Given the description of an element on the screen output the (x, y) to click on. 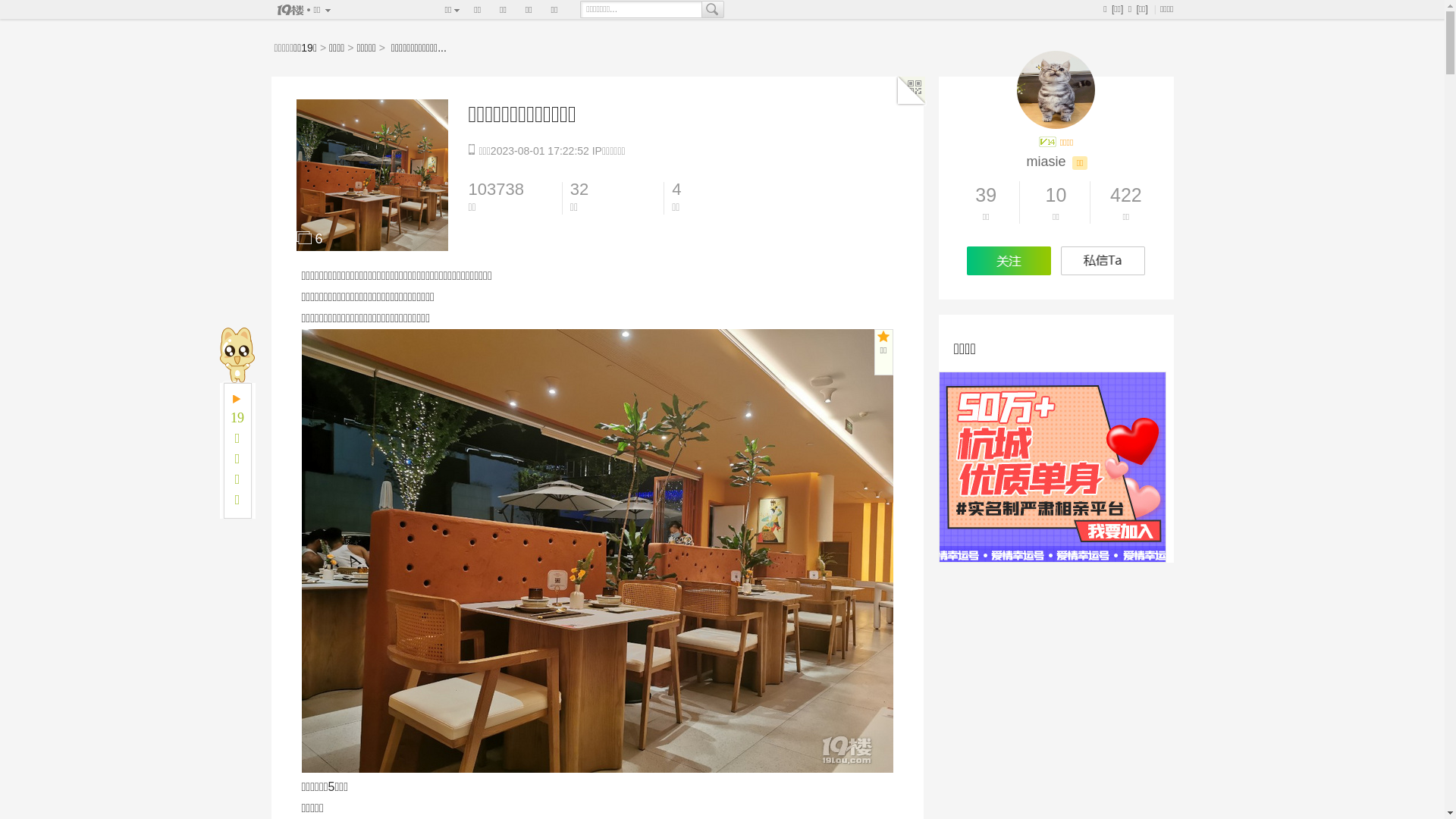
39 Element type: text (985, 195)
422 Element type: text (1125, 195)
10 Element type: text (1055, 195)
miasie Element type: text (1046, 161)
